Given the description of an element on the screen output the (x, y) to click on. 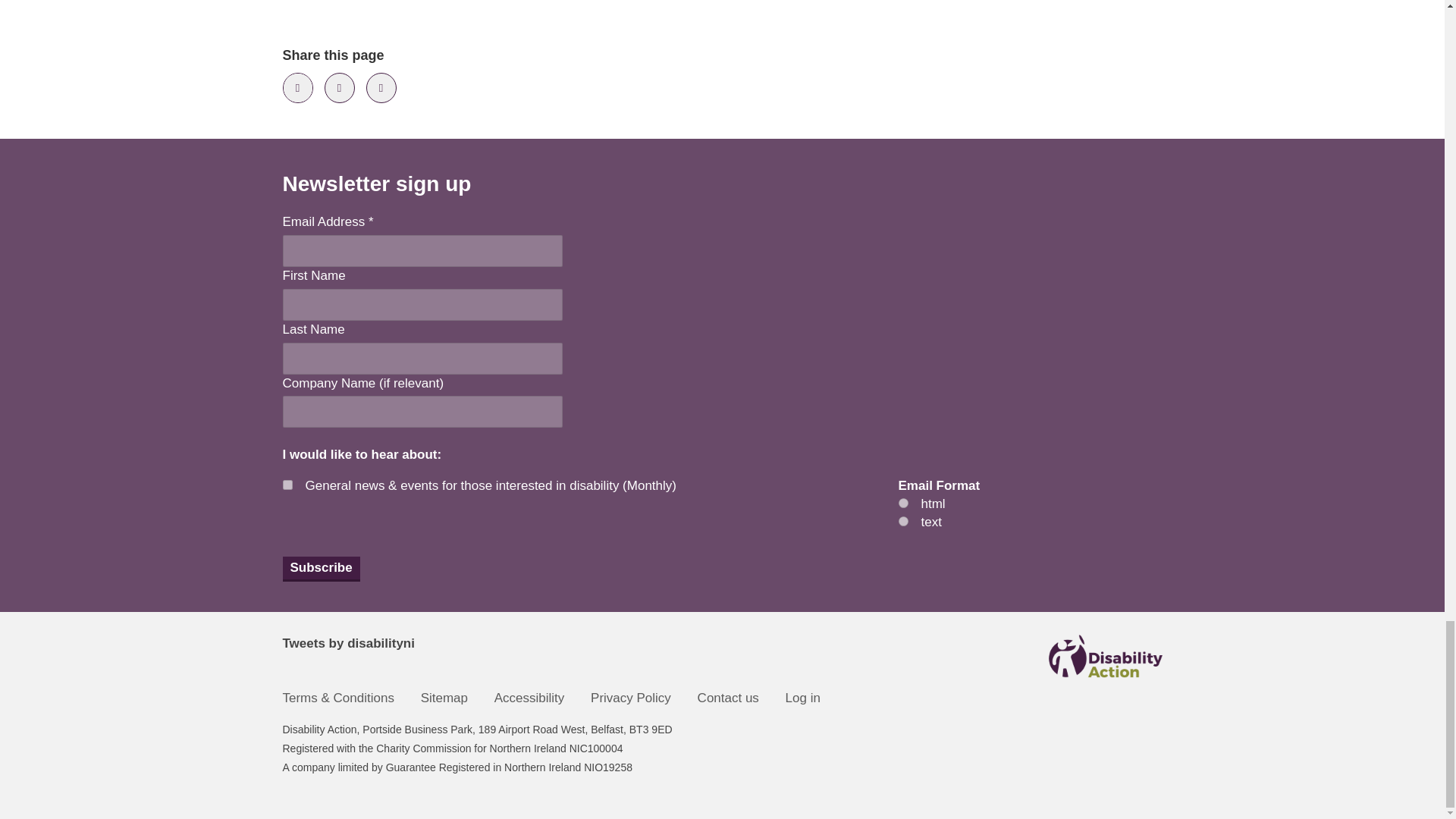
text (902, 521)
Subscribe (320, 568)
1 (287, 484)
html (902, 502)
